Given the description of an element on the screen output the (x, y) to click on. 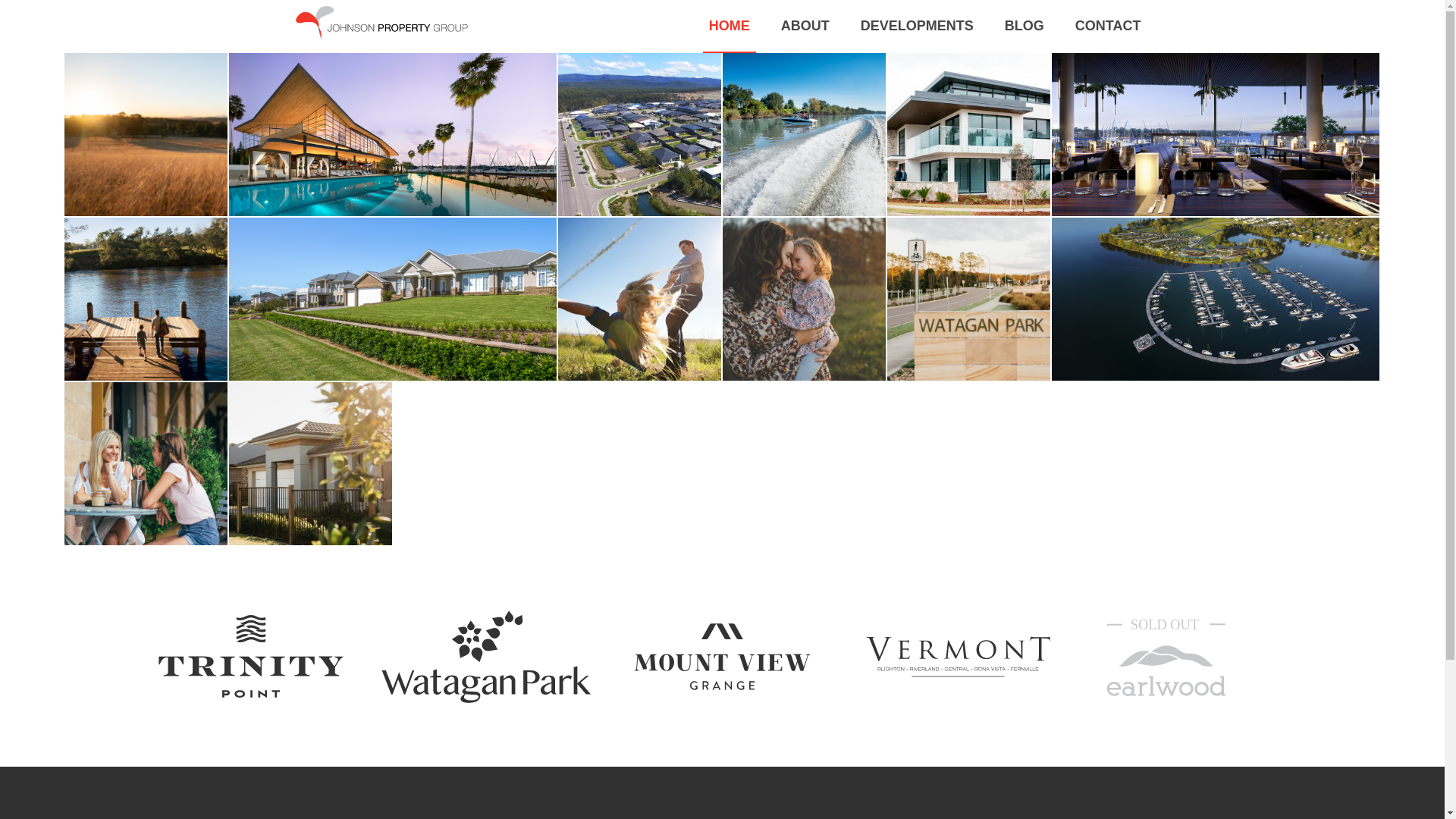
HOME Element type: text (729, 26)
ABOUT Element type: text (805, 25)
BLOG Element type: text (1024, 25)
DEVELOPMENTS Element type: text (916, 25)
CONTACT Element type: text (1108, 25)
